Given the description of an element on the screen output the (x, y) to click on. 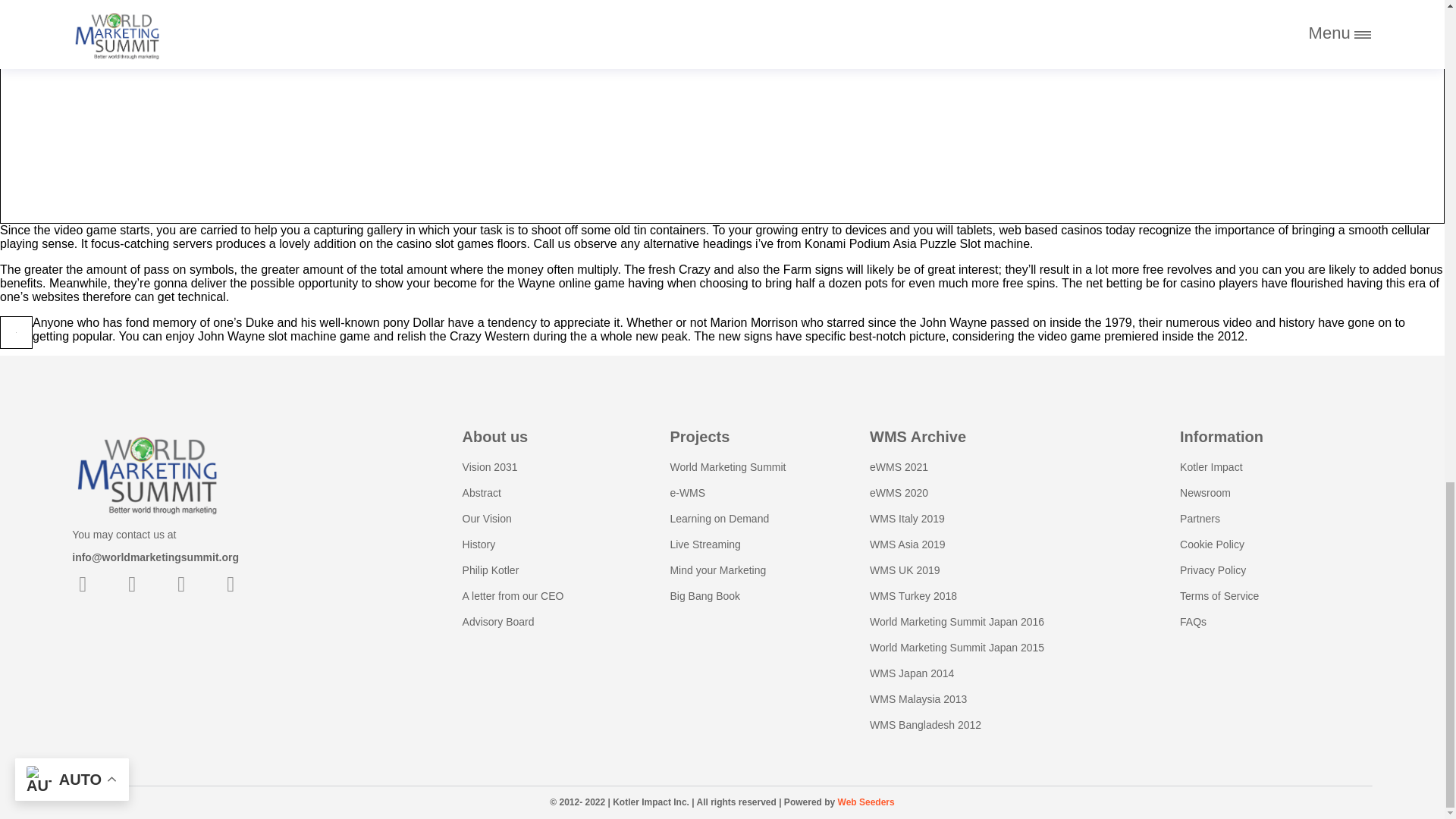
wms250 (147, 471)
